Given the description of an element on the screen output the (x, y) to click on. 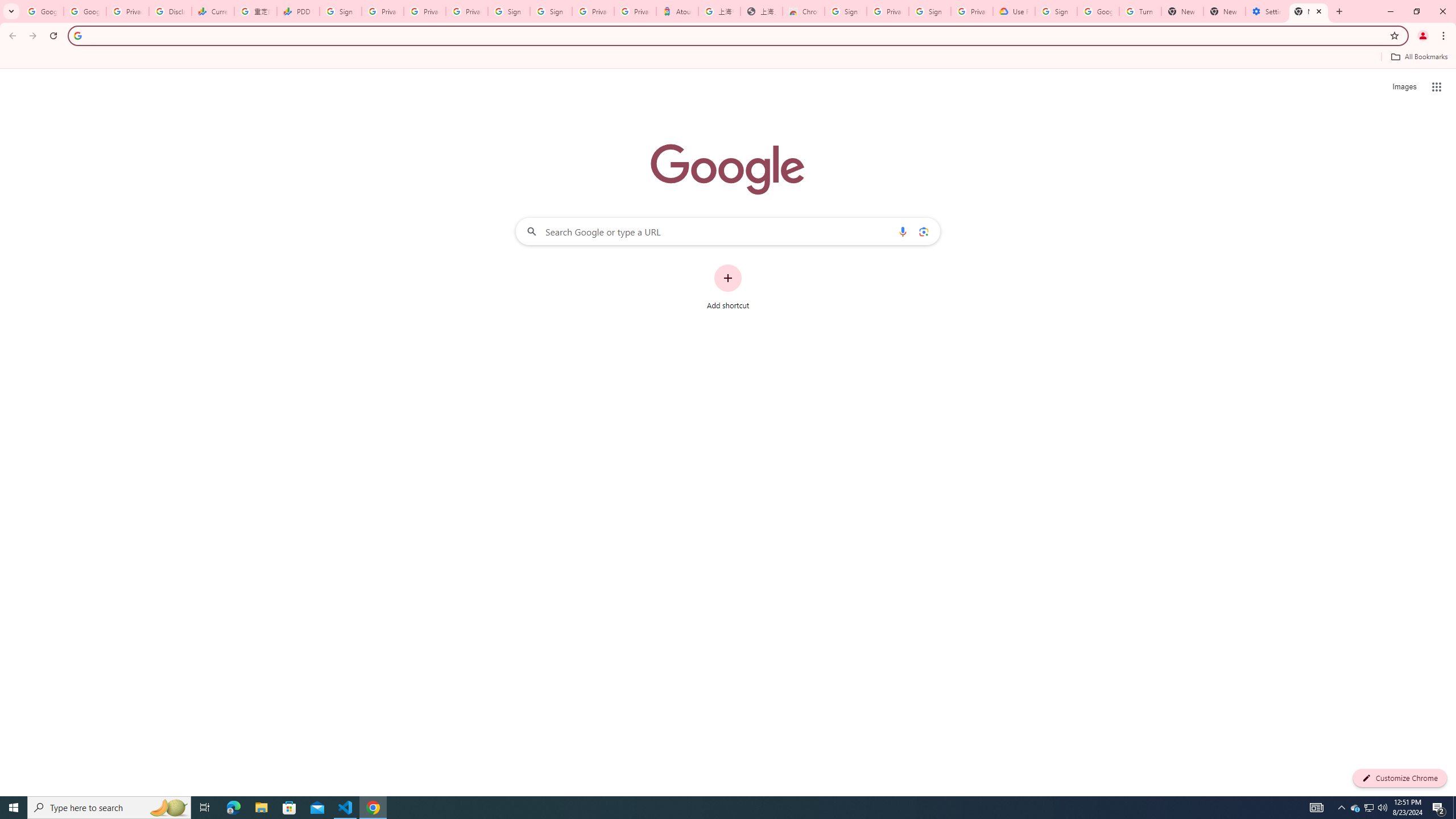
PDD Holdings Inc - ADR (PDD) Price & News - Google Finance (298, 11)
Currencies - Google Finance (212, 11)
Sign in - Google Accounts (930, 11)
Bookmarks (728, 58)
Sign in - Google Accounts (509, 11)
